Given the description of an element on the screen output the (x, y) to click on. 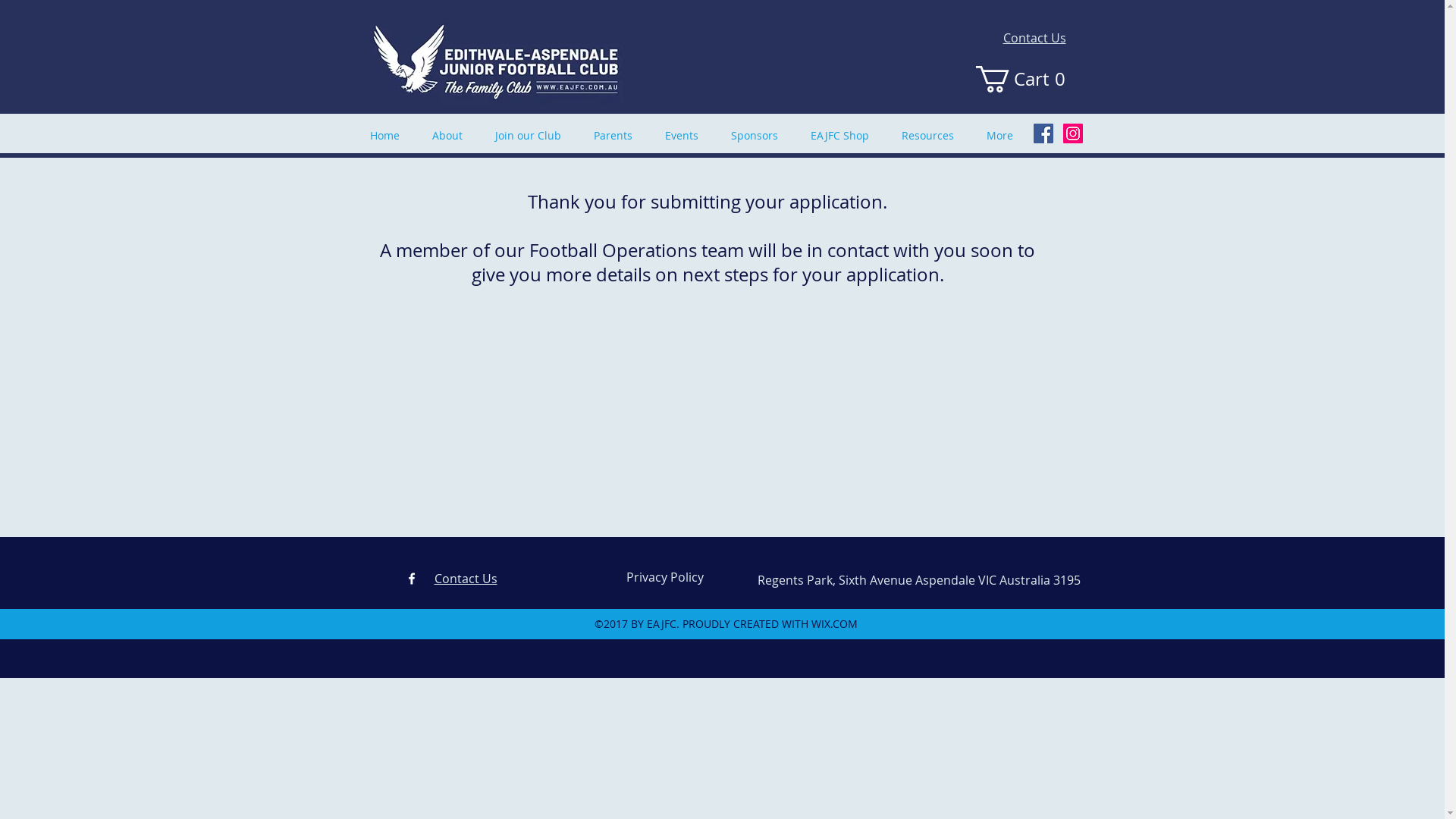
Contact Us Element type: text (1033, 37)
Resources Element type: text (932, 134)
Contact Us Element type: text (464, 578)
Cart
0 Element type: text (1025, 78)
Events Element type: text (686, 134)
About Element type: text (451, 134)
Parents Element type: text (617, 134)
Sponsors Element type: text (758, 134)
EAJFC Shop Element type: text (844, 134)
Join our Club Element type: text (532, 134)
Home Element type: text (388, 134)
